Given the description of an element on the screen output the (x, y) to click on. 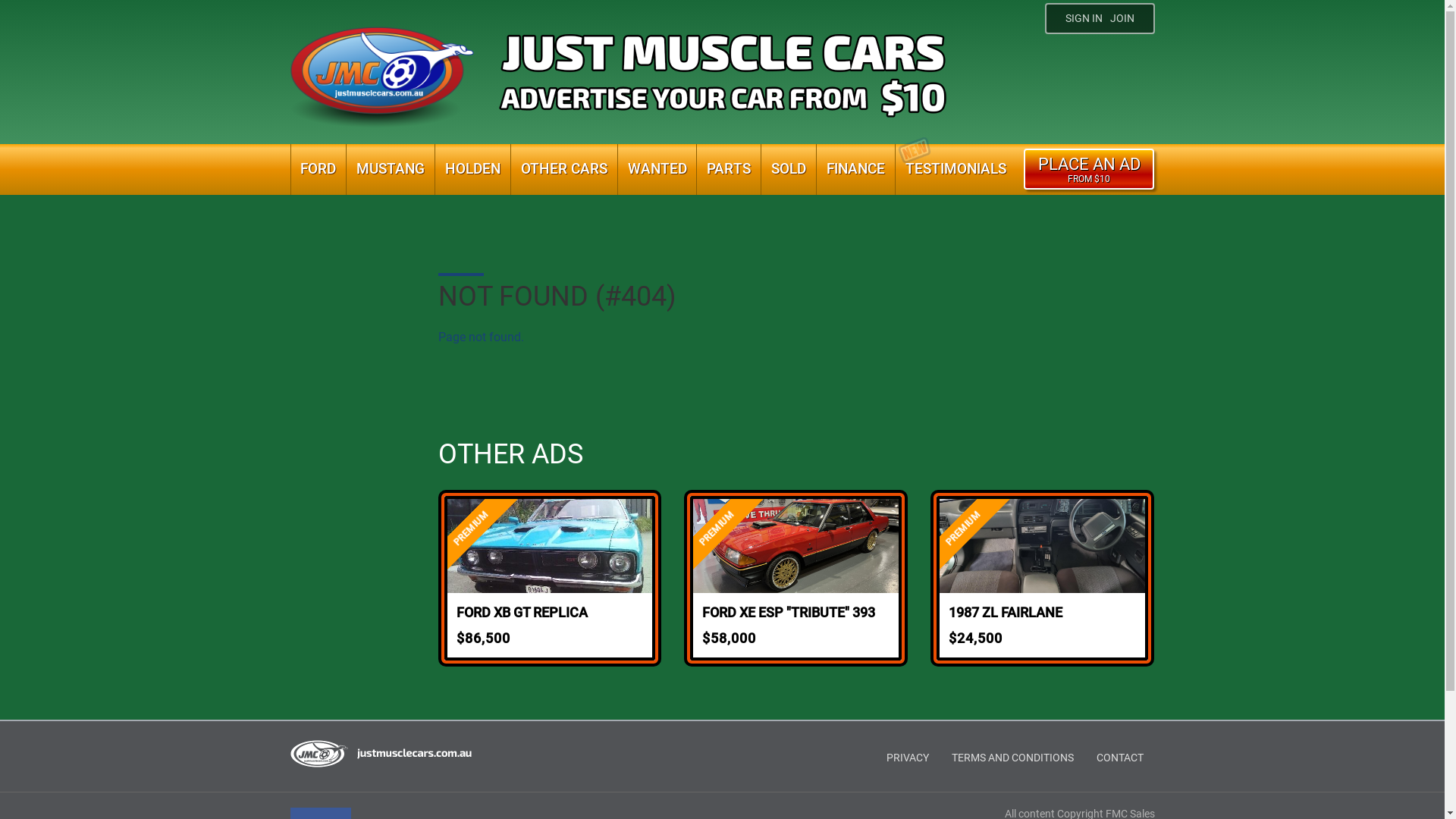
HOLDEN Element type: text (472, 169)
FINANCE Element type: text (855, 169)
1987 ZL FAIRLANE Element type: text (1041, 610)
FORD XB GT REPLICA Element type: text (549, 610)
MUSTANG Element type: text (390, 169)
WANTED Element type: text (657, 169)
TESTIMONIALS Element type: text (955, 169)
SOLD Element type: text (788, 169)
JOIN Element type: text (1126, 18)
FORD XE ESP "TRIBUTE" 393 STROKER "" REDUCED """ Element type: text (795, 610)
CONTACT Element type: text (1119, 758)
FORD Element type: text (318, 169)
PARTS Element type: text (728, 169)
OTHER CARS Element type: text (564, 169)
PRIVACY Element type: text (907, 758)
TERMS AND CONDITIONS Element type: text (1012, 758)
SIGN IN Element type: text (1083, 18)
PLACE AN AD
FROM $10 Element type: text (1088, 168)
